Given the description of an element on the screen output the (x, y) to click on. 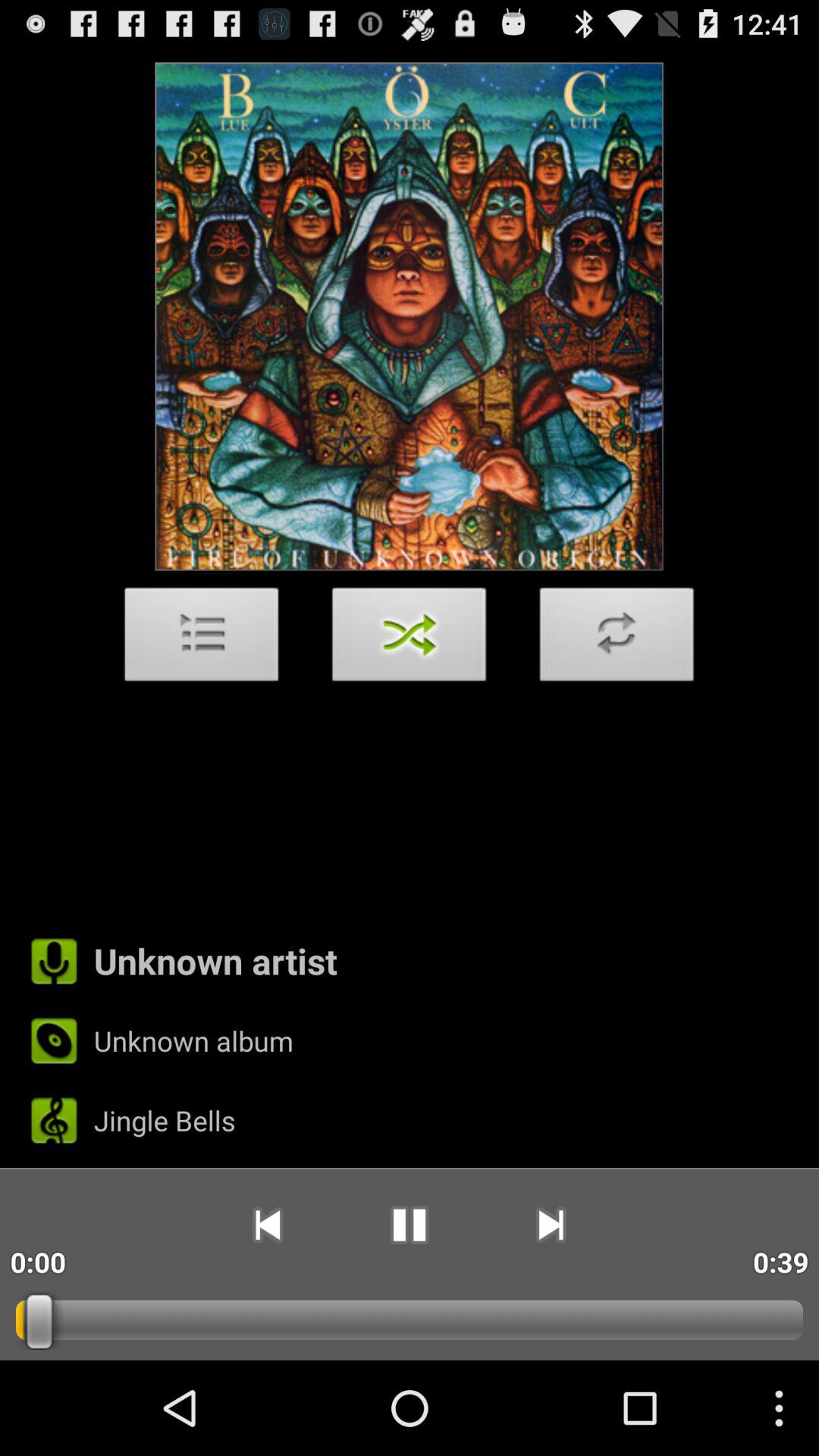
click item next to the 0:39 item (550, 1224)
